Given the description of an element on the screen output the (x, y) to click on. 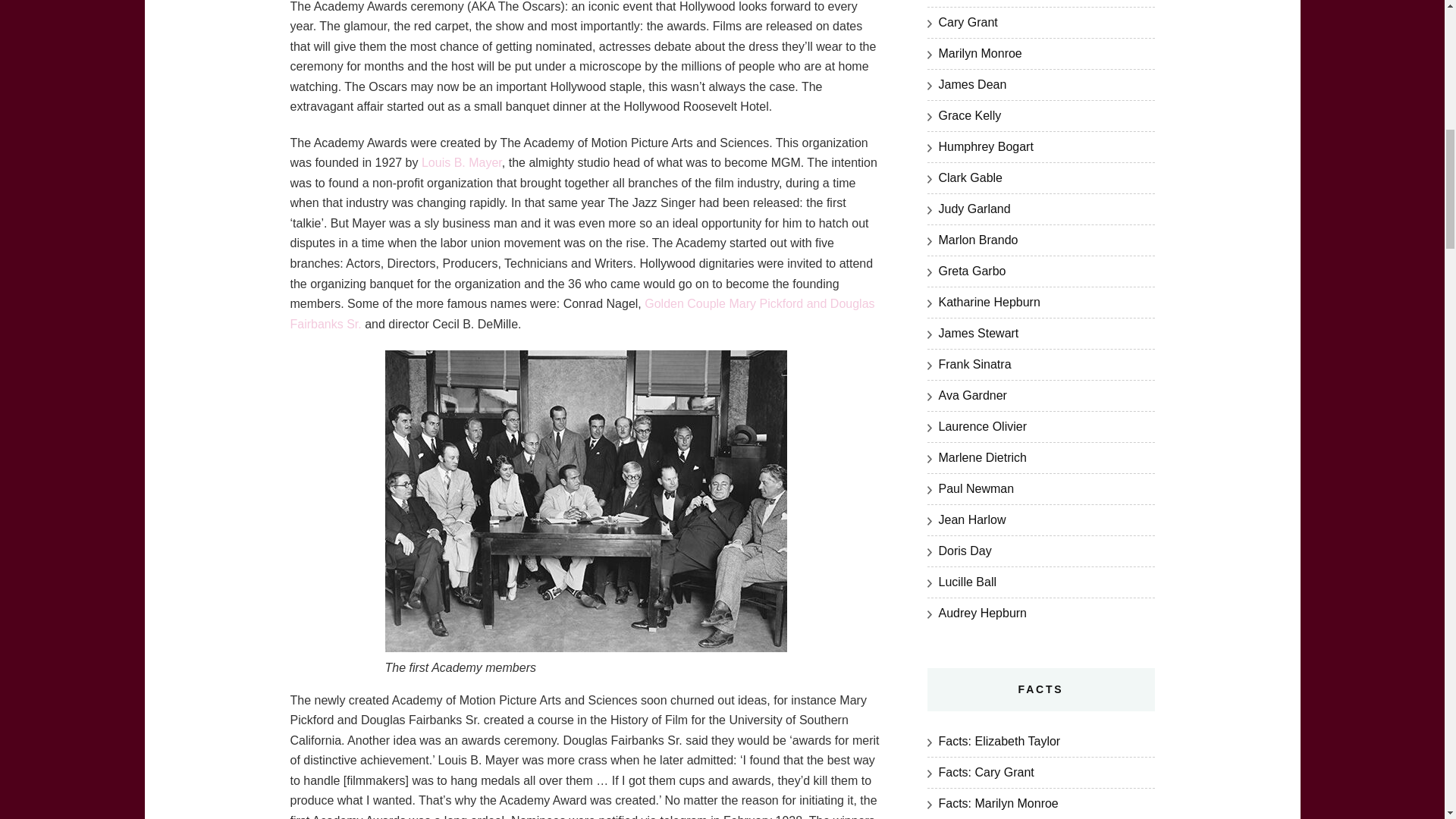
Louis B. Mayer (460, 162)
Golden Couple Mary Pickford and Douglas Fairbanks Sr. (582, 313)
